Given the description of an element on the screen output the (x, y) to click on. 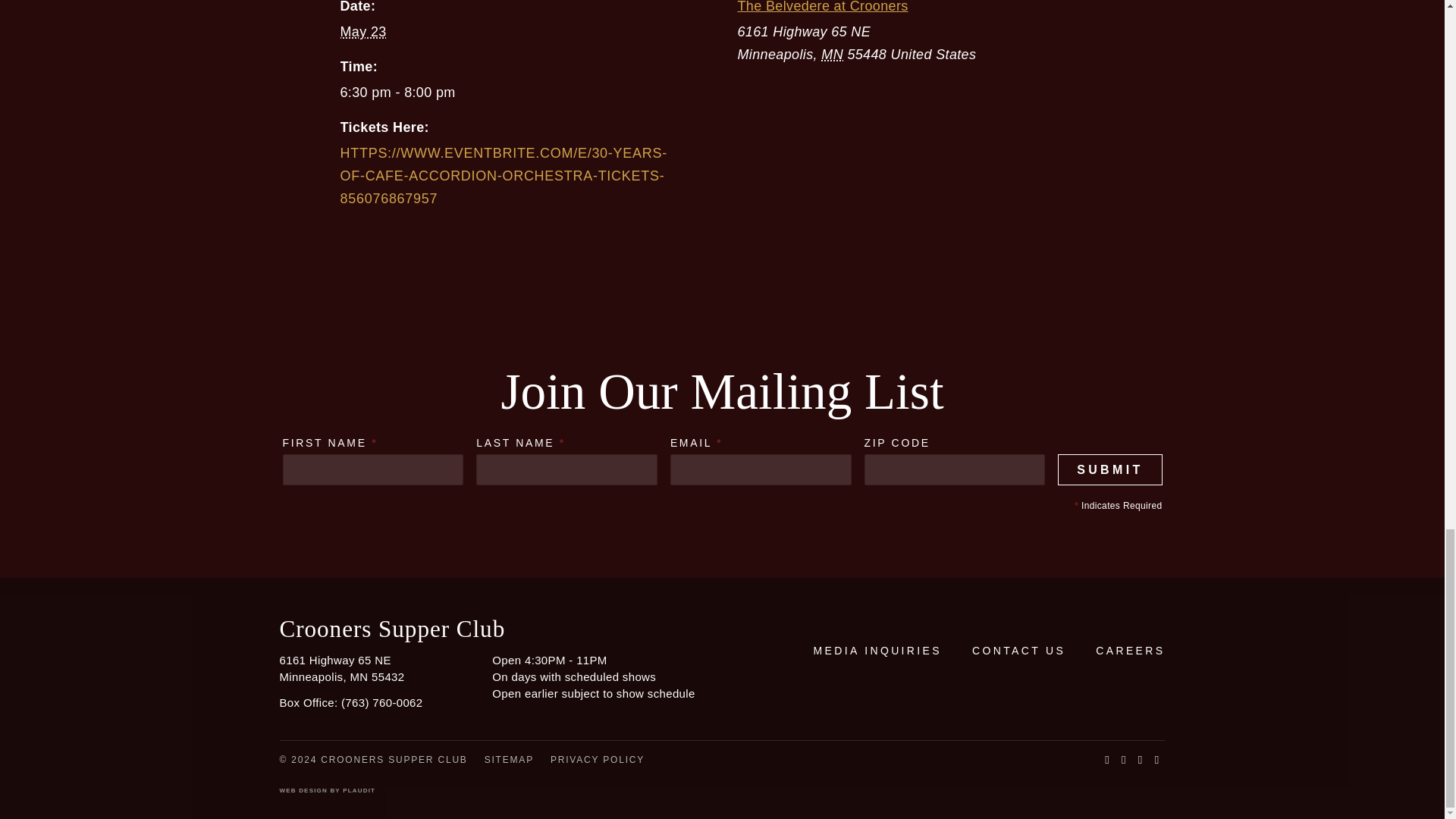
PRIVACY POLICY (597, 759)
CAREERS (1130, 650)
The Belvedere at Crooners (821, 6)
Minnesota (832, 54)
2024-05-23 (362, 31)
2024-05-23 (513, 92)
WEB DESIGN (302, 790)
CONTACT US (1018, 650)
SITEMAP (509, 759)
Submit (1109, 469)
